Given the description of an element on the screen output the (x, y) to click on. 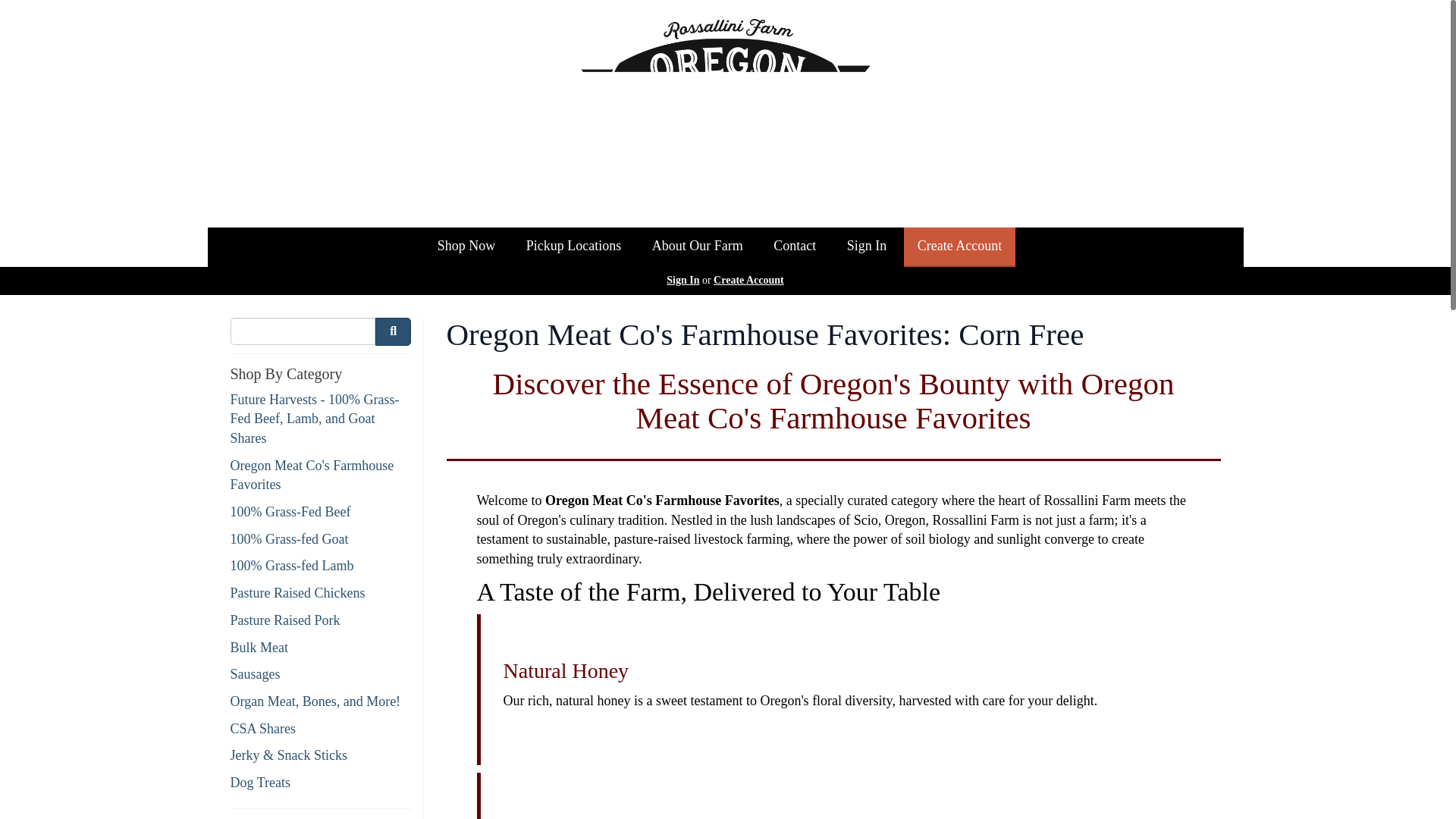
About Our Farm (698, 246)
Sign In (866, 246)
Pasture Raised Chickens (321, 593)
Create Account (748, 279)
Pickup Locations (573, 246)
Organ Meat, Bones, and More! (321, 701)
Bulk Meat (321, 648)
Shop Now (466, 246)
Pasture Raised Pork (321, 620)
Dog Treats (321, 783)
